Given the description of an element on the screen output the (x, y) to click on. 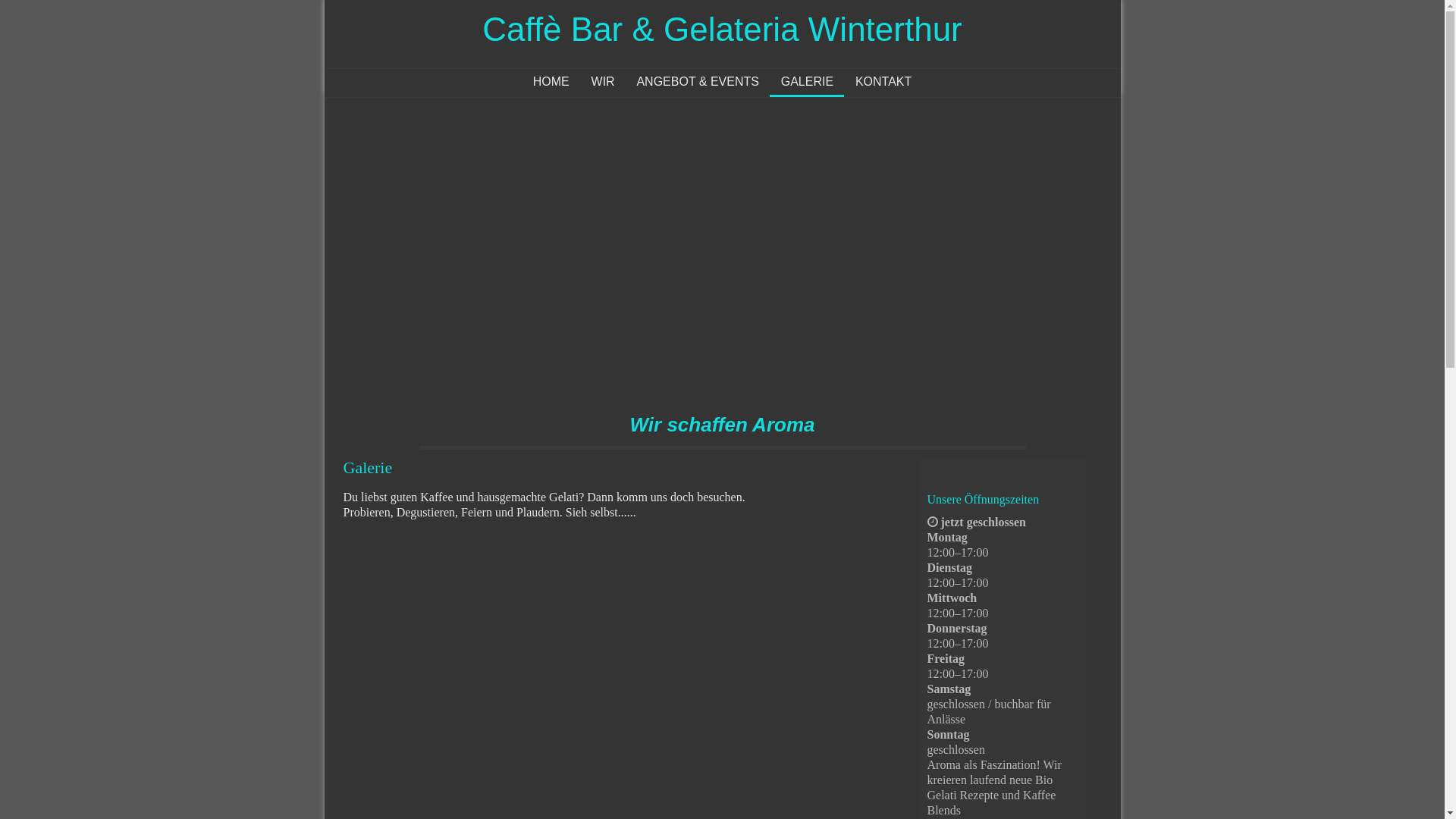
GALERIE Element type: text (806, 81)
ANGEBOT & EVENTS Element type: text (697, 81)
  Element type: text (1063, 6)
HOME Element type: text (550, 81)
KONTAKT Element type: text (883, 81)
WIR Element type: text (602, 81)
